Given the description of an element on the screen output the (x, y) to click on. 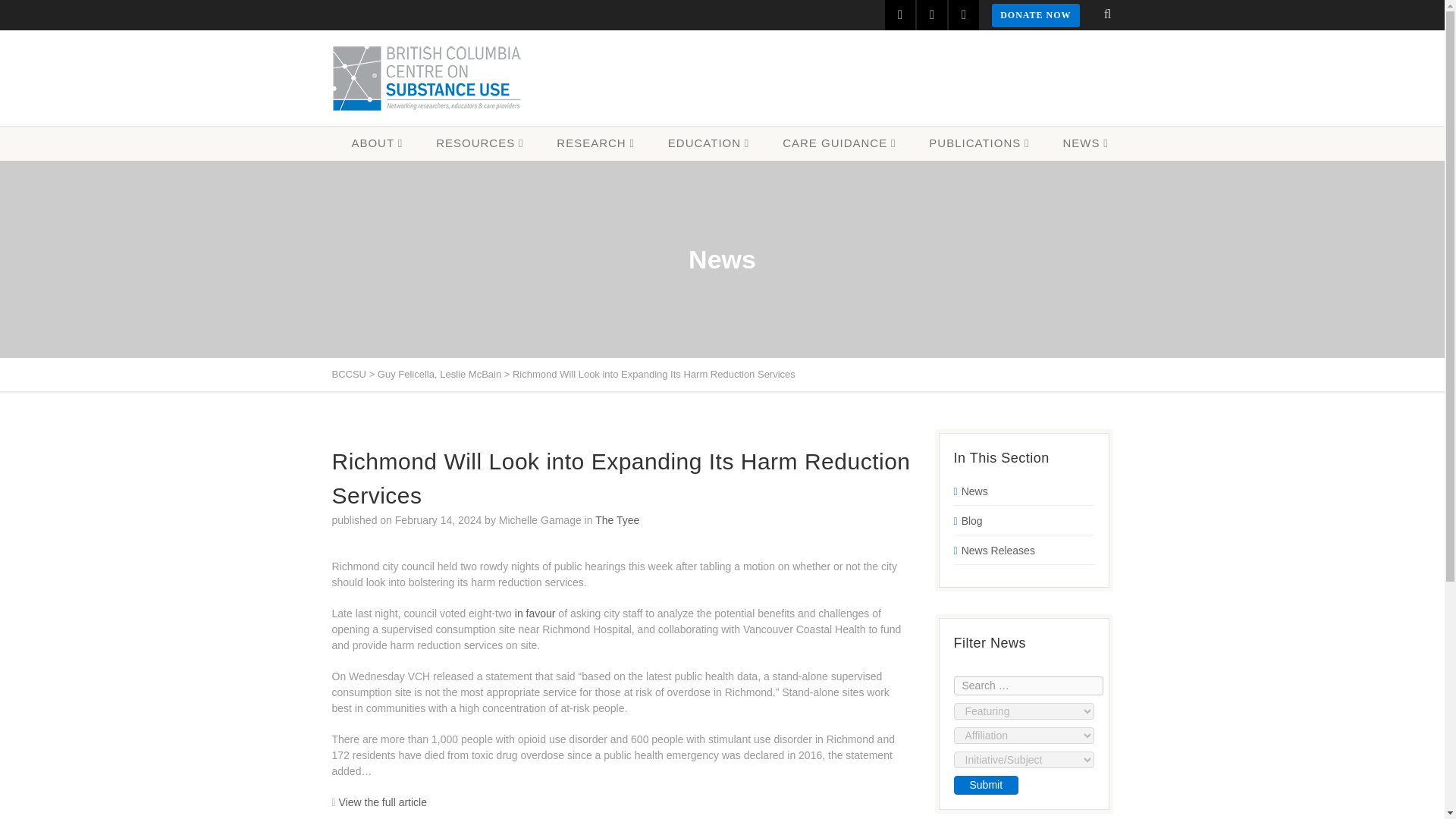
Go to BCCSU. (348, 374)
78177,78183 (839, 143)
RESOURCES (478, 143)
DONATE NOW (1034, 15)
ABOUT (376, 143)
Go to the Guy Felicella Author Tag archives. (405, 374)
Go to the Leslie McBain Author Tag archives. (469, 374)
Submit (986, 783)
RESEARCH (595, 143)
BCCSU (426, 78)
